Given the description of an element on the screen output the (x, y) to click on. 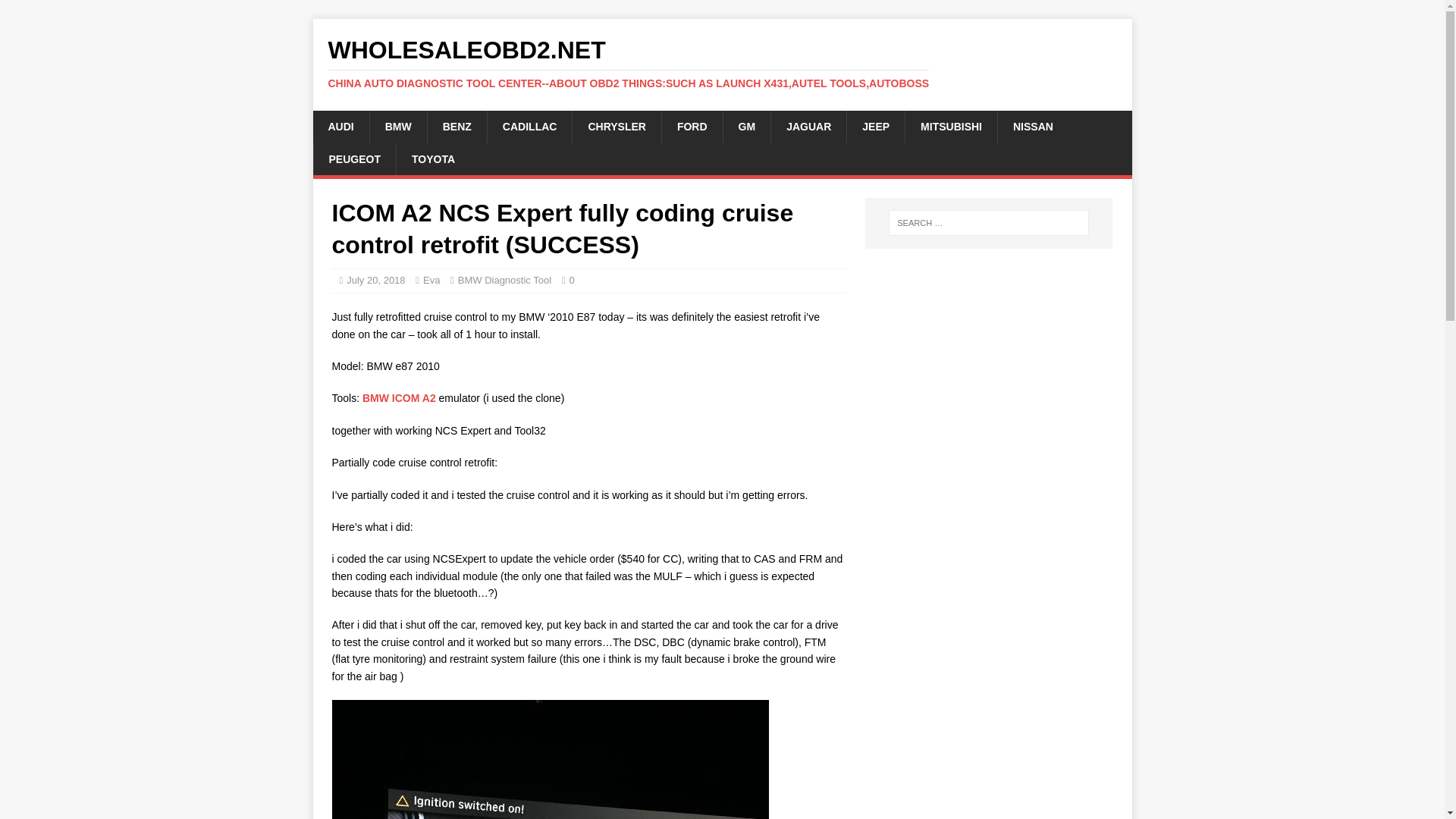
GM (746, 126)
Eva (431, 279)
FORD (691, 126)
wholesaleobd2.net (721, 63)
NISSAN (1032, 126)
JAGUAR (807, 126)
July 20, 2018 (375, 279)
JEEP (874, 126)
MITSUBISHI (950, 126)
Search (56, 11)
AUDI (340, 126)
PEUGEOT (353, 159)
BMW ICOM A2 (398, 398)
CADILLAC (529, 126)
